Given the description of an element on the screen output the (x, y) to click on. 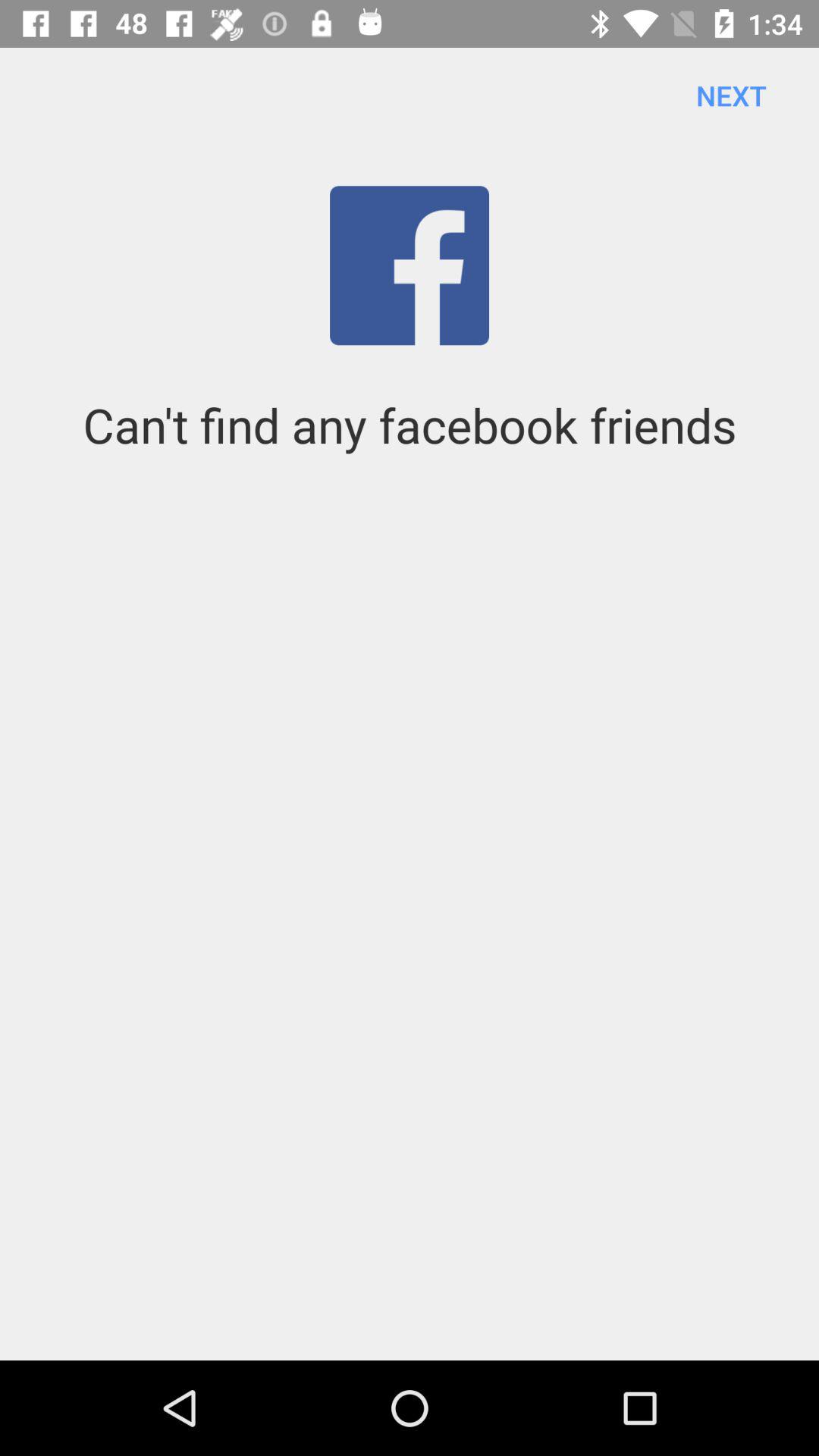
click the item at the top right corner (731, 95)
